Given the description of an element on the screen output the (x, y) to click on. 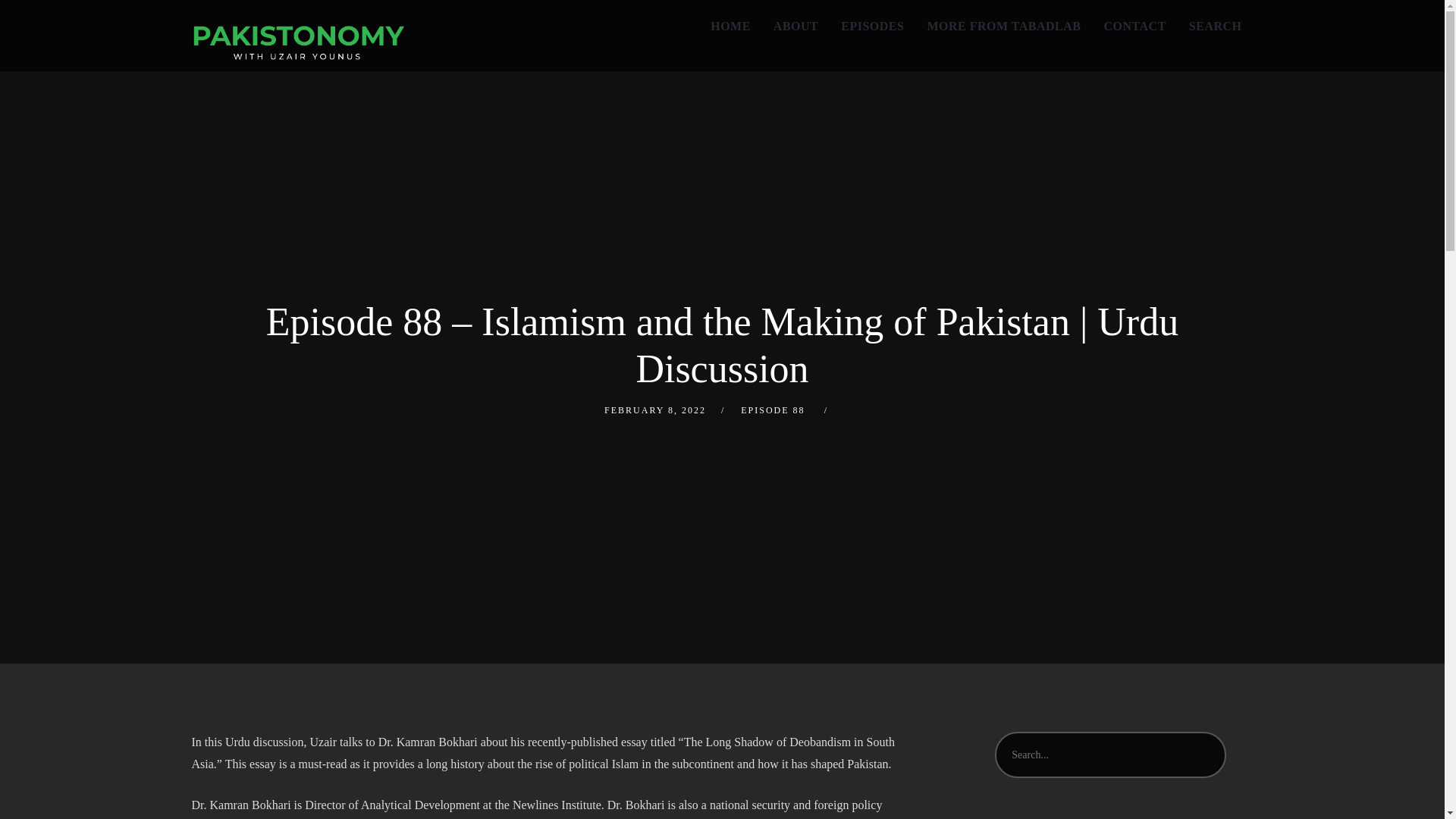
HOME (729, 26)
CONTACT (1134, 26)
ABOUT (795, 26)
MORE FROM TABADLAB (1003, 26)
EPISODES (872, 26)
SEARCH (1215, 26)
Pakistonomy (296, 35)
Submit (31, 22)
